Given the description of an element on the screen output the (x, y) to click on. 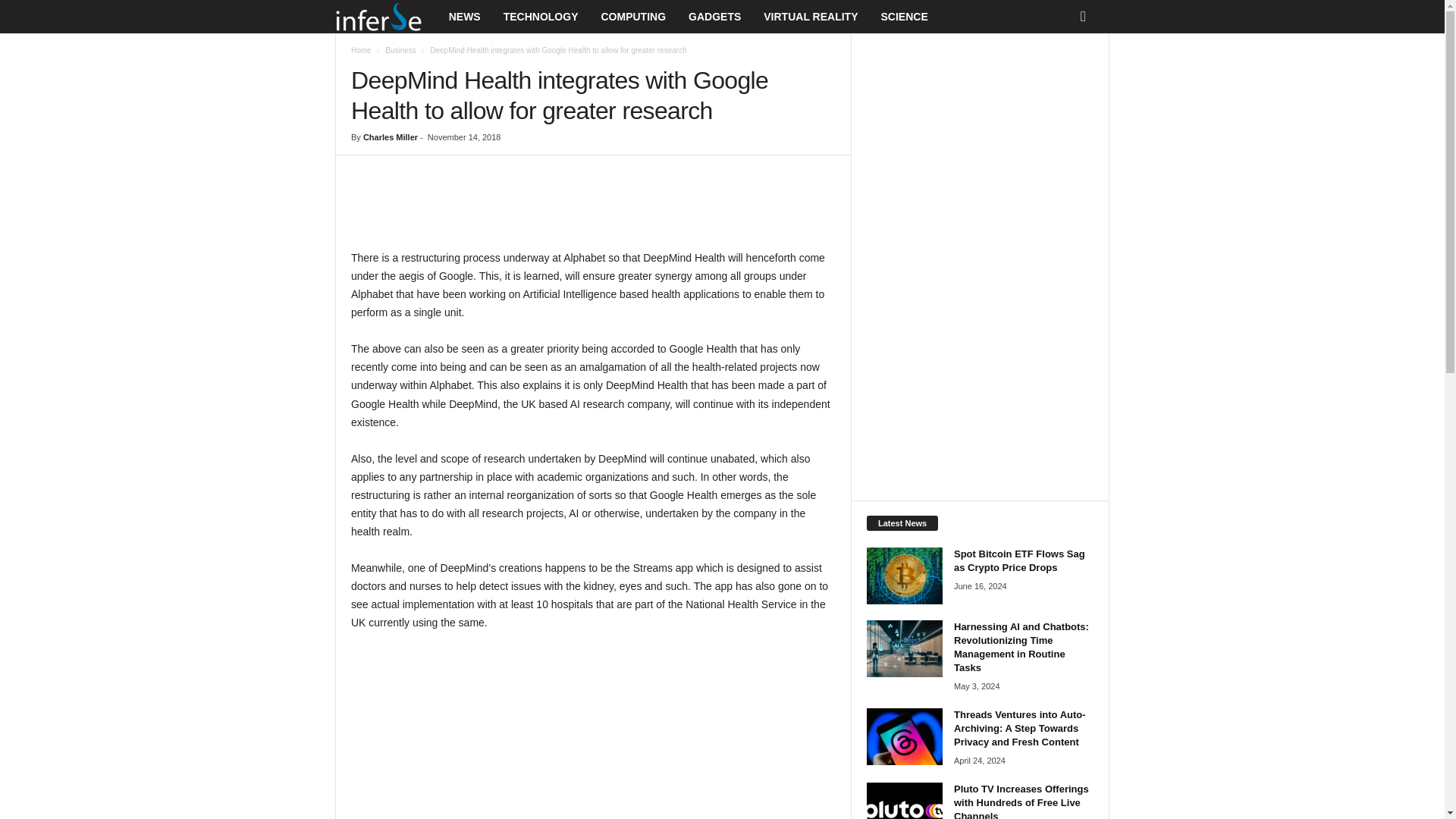
TECHNOLOGY (540, 16)
Business (400, 49)
Advertisement (592, 734)
Inferse.com (386, 17)
COMPUTING (633, 16)
Charles Miller (389, 136)
NEWS (465, 16)
VIRTUAL REALITY (810, 16)
Home (360, 49)
Advertisement (593, 208)
GADGETS (714, 16)
View all posts in Business (400, 49)
Inferse (378, 16)
SCIENCE (904, 16)
